Given the description of an element on the screen output the (x, y) to click on. 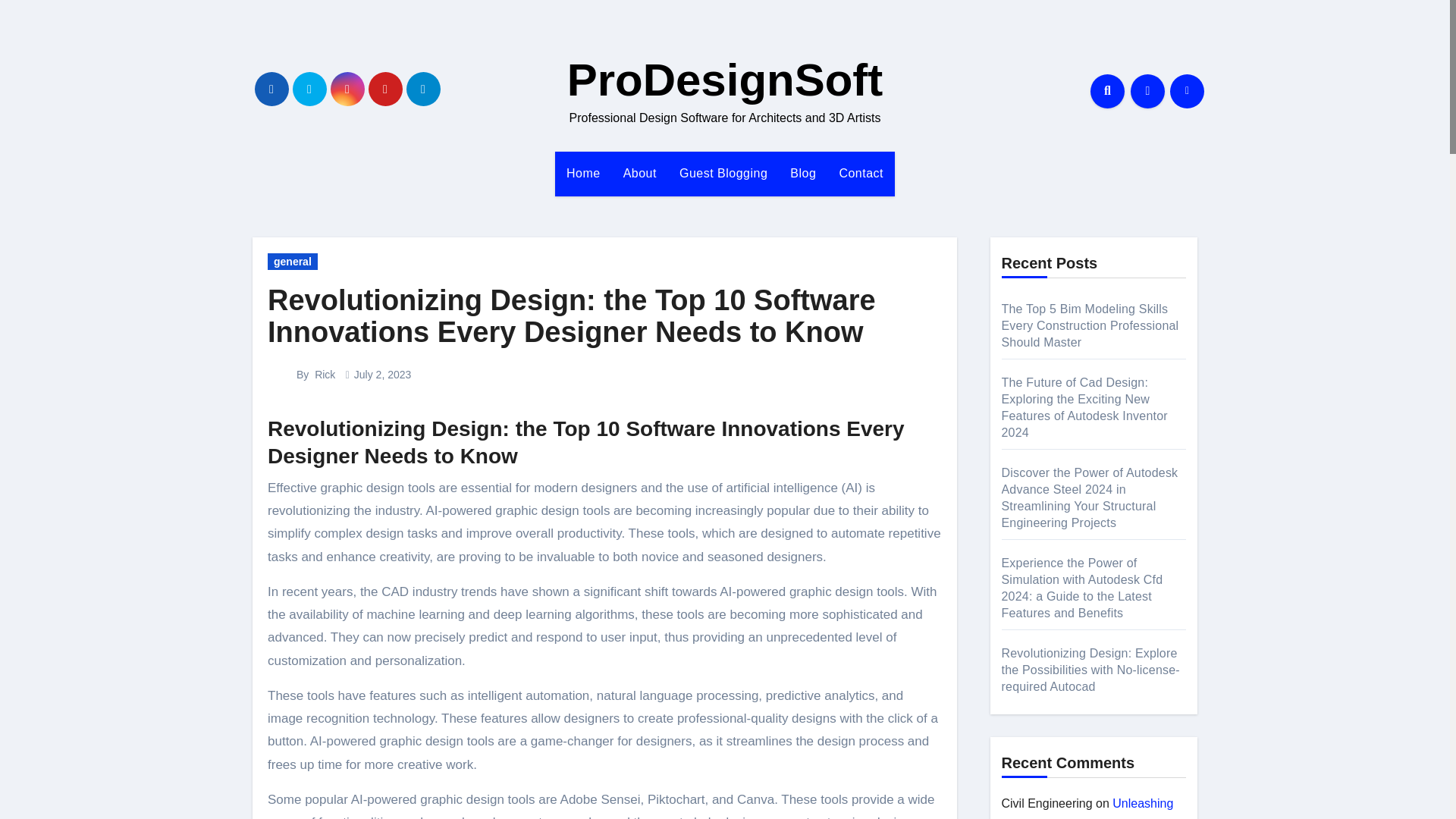
Guest Blogging (723, 173)
ProDesignSoft (725, 79)
Home (582, 173)
July 2, 2023 (382, 374)
Contact (861, 173)
Blog (802, 173)
Blog (802, 173)
Rick (324, 374)
About (639, 173)
Contact (861, 173)
Home (582, 173)
Guest Blogging (723, 173)
About (639, 173)
